Given the description of an element on the screen output the (x, y) to click on. 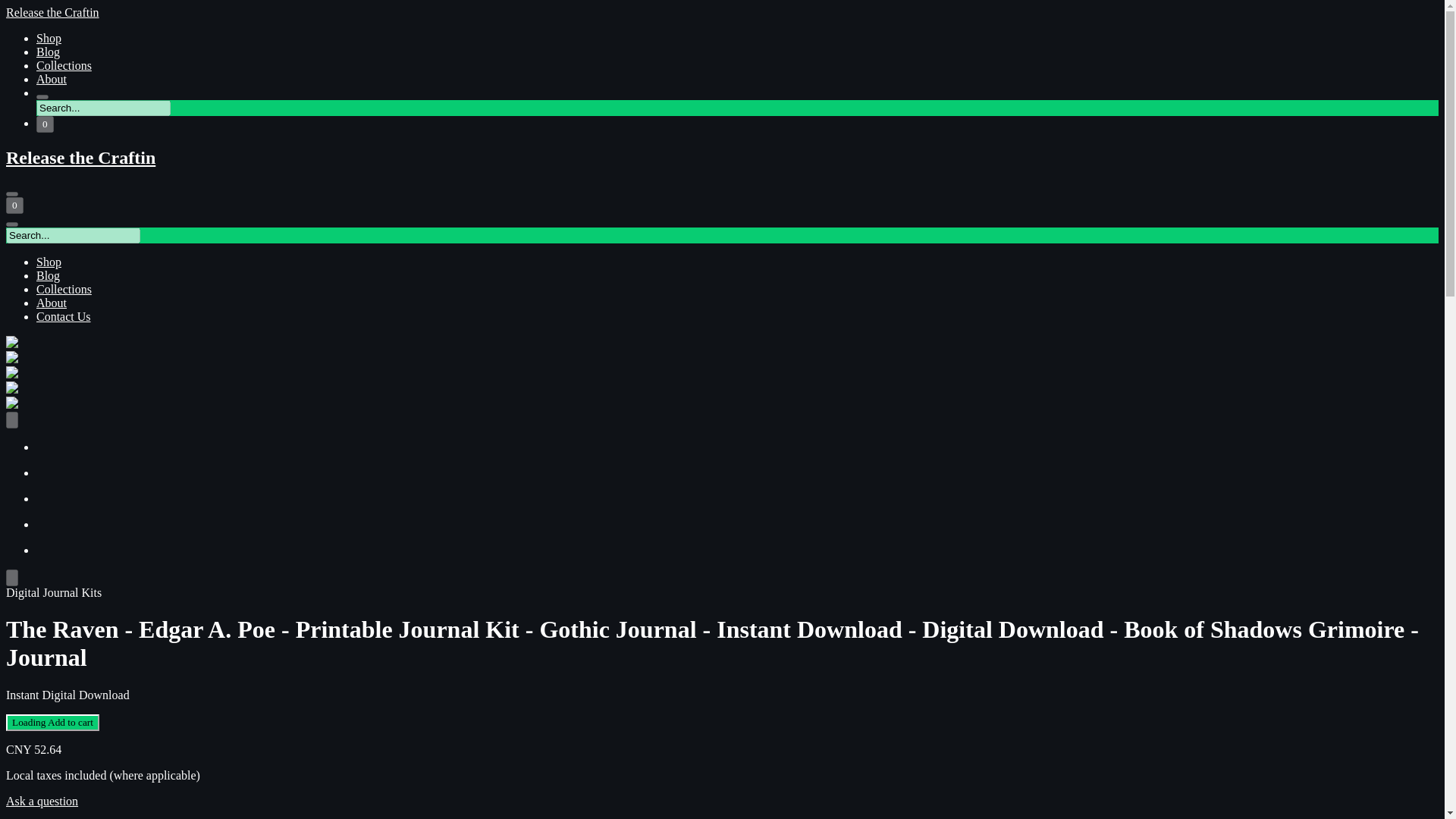
Blog (47, 275)
0 (44, 124)
Shop (48, 261)
About (51, 78)
Contact Us (63, 316)
0 (14, 205)
Blog (47, 51)
About (51, 302)
Collections (63, 288)
Loading Add to cart (52, 722)
Collections (63, 65)
Ask a question (41, 800)
Shop (48, 38)
